Given the description of an element on the screen output the (x, y) to click on. 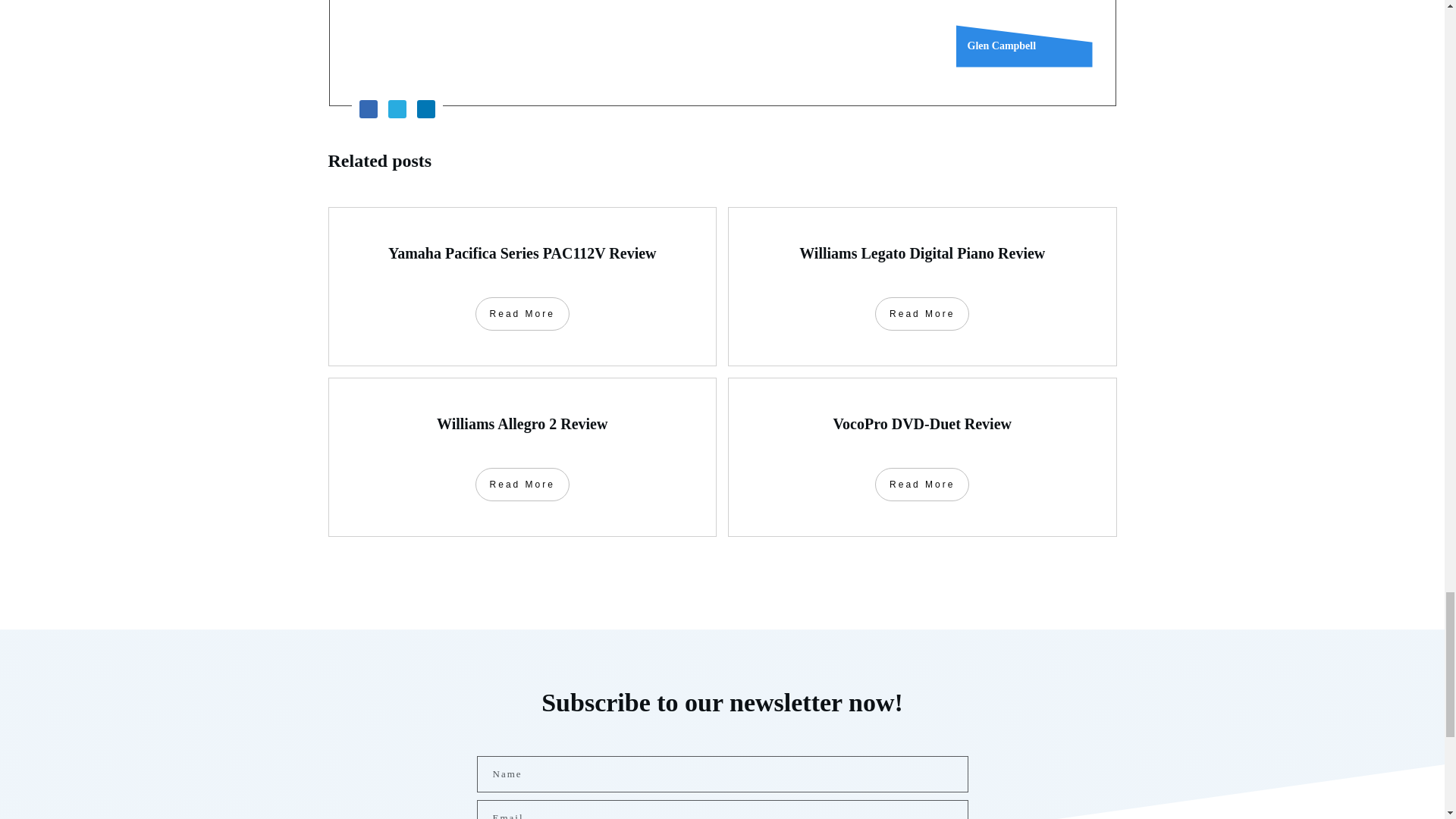
Read More (522, 484)
Read More (522, 313)
Read More (922, 484)
Read More (922, 313)
